Given the description of an element on the screen output the (x, y) to click on. 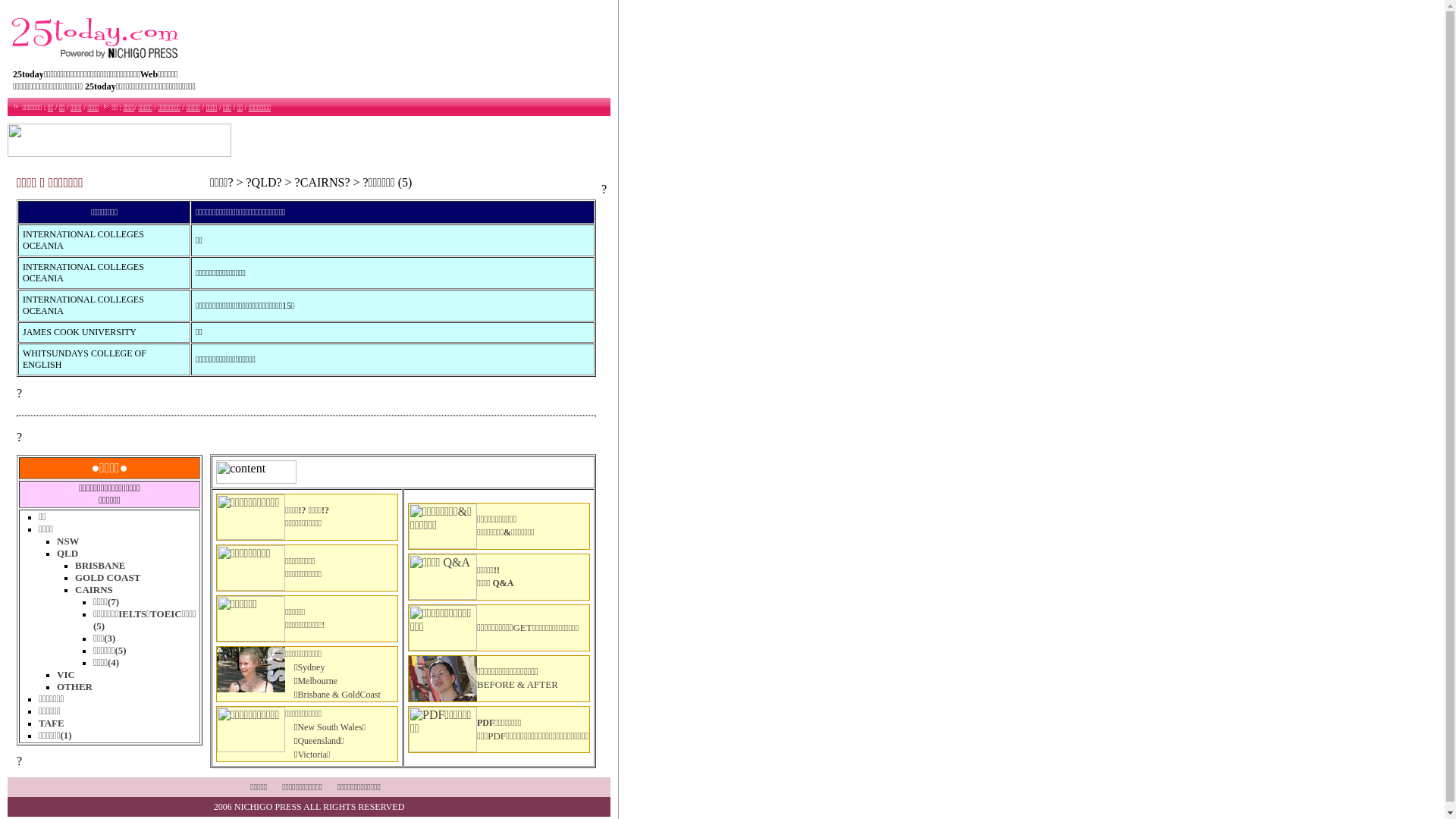
GOLD COAST Element type: text (107, 577)
Brisbane & GoldCoast Element type: text (338, 694)
NSW Element type: text (67, 541)
Melbourne Element type: text (317, 680)
BRISBANE Element type: text (100, 565)
CAIRNS Element type: text (93, 589)
VIC Element type: text (65, 674)
Sydney Element type: text (310, 667)
TAFE Element type: text (51, 723)
QLD Element type: text (67, 553)
OTHER Element type: text (74, 686)
